Given the description of an element on the screen output the (x, y) to click on. 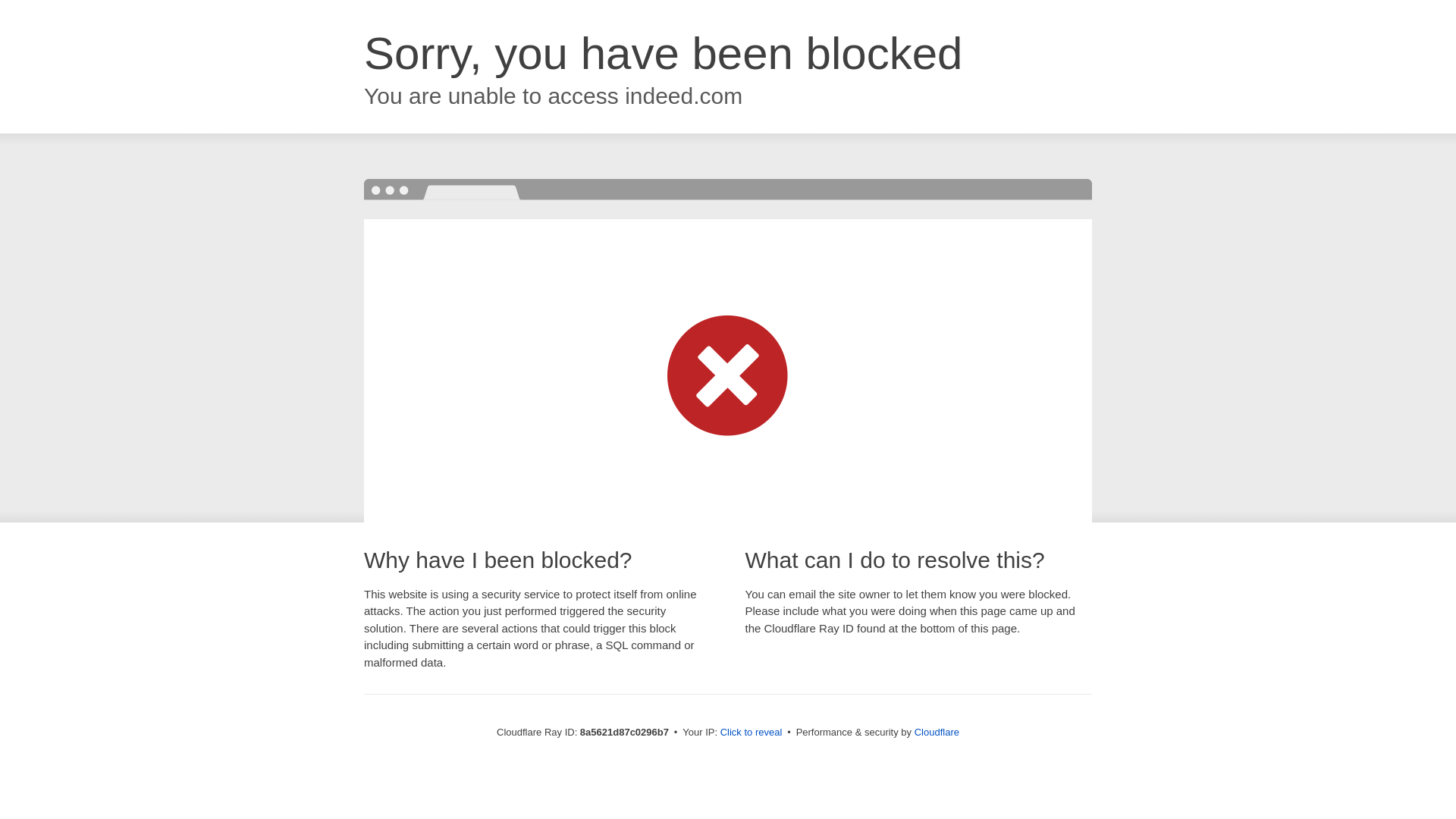
Click to reveal (751, 732)
Cloudflare (936, 731)
